Given the description of an element on the screen output the (x, y) to click on. 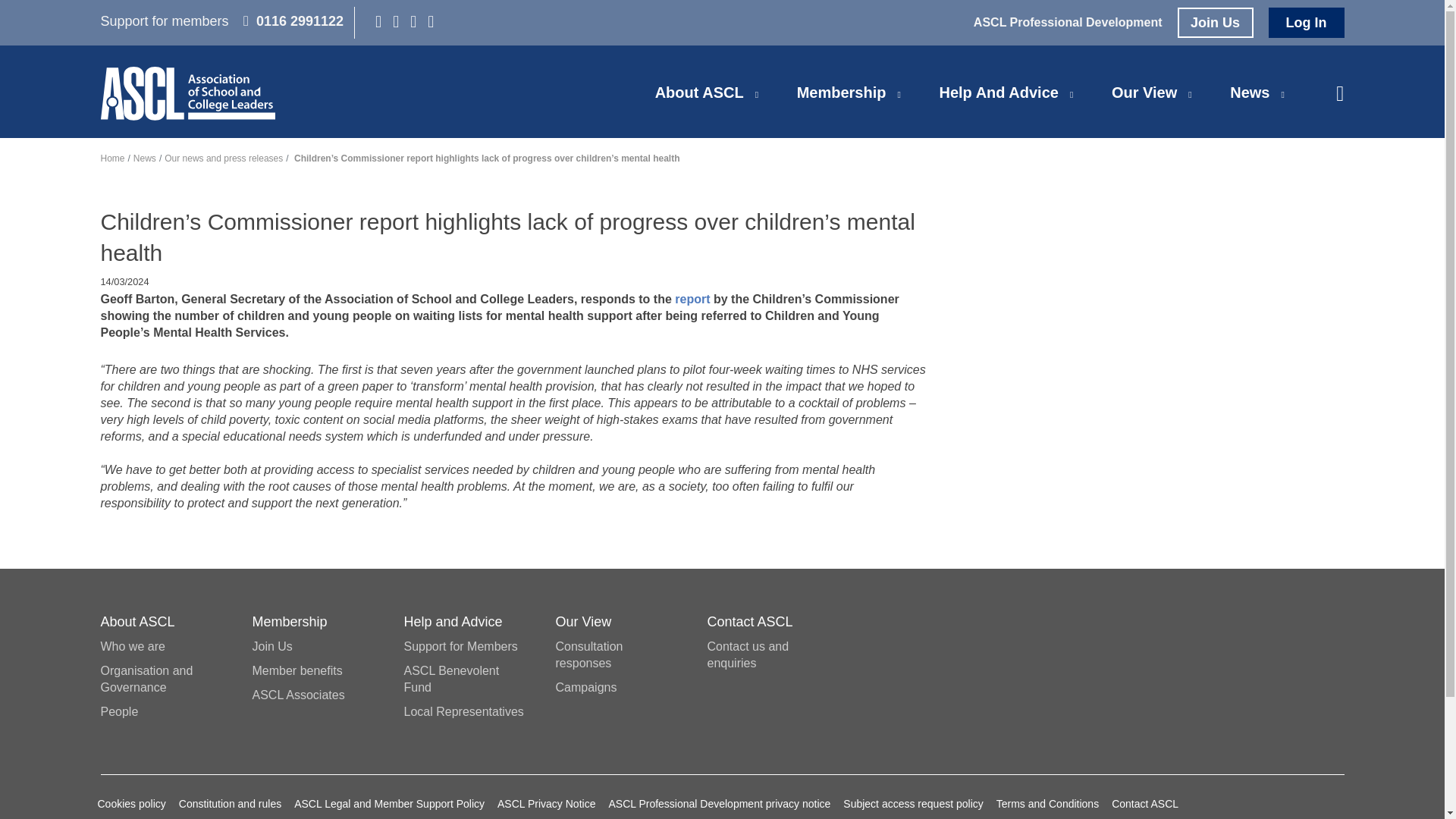
Membership (841, 92)
Help And Advice (998, 92)
Log In (1305, 22)
About ASCL (699, 92)
ASCL Professional Development (1067, 21)
Join Us (1214, 22)
0116 2991122 (293, 20)
Our View (1144, 92)
